Given the description of an element on the screen output the (x, y) to click on. 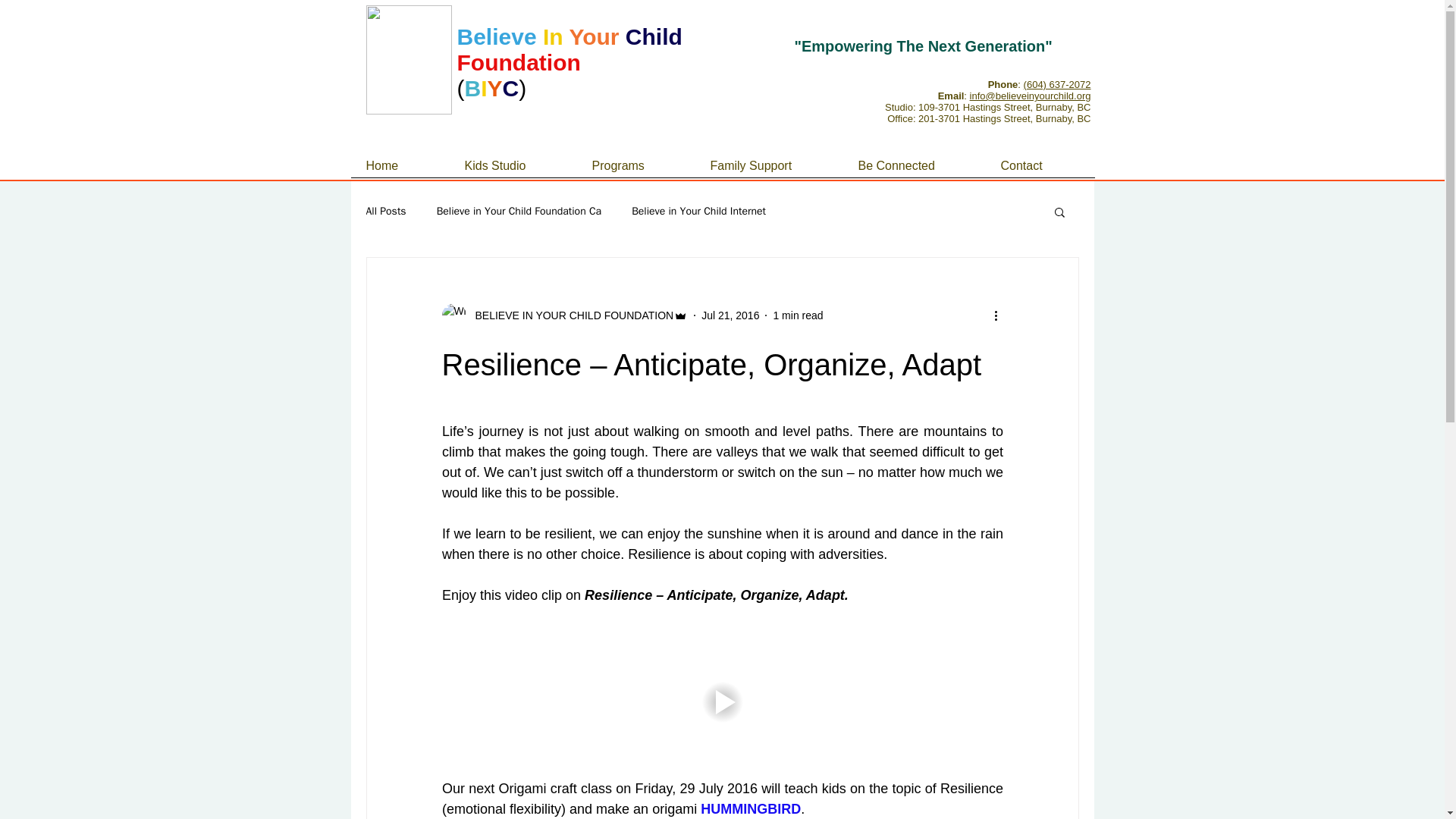
Programs (638, 165)
BELIEVE IN YOUR CHILD FOUNDATION (568, 315)
Jul 21, 2016 (729, 315)
Kids Studio (515, 165)
BELIEVE IN YOUR CHILD FOUNDATION (564, 315)
Be Connected (916, 165)
All Posts (385, 211)
Contact (1042, 165)
HUMMINGBIRD (750, 808)
Believe in Your Child Internet (698, 211)
